Given the description of an element on the screen output the (x, y) to click on. 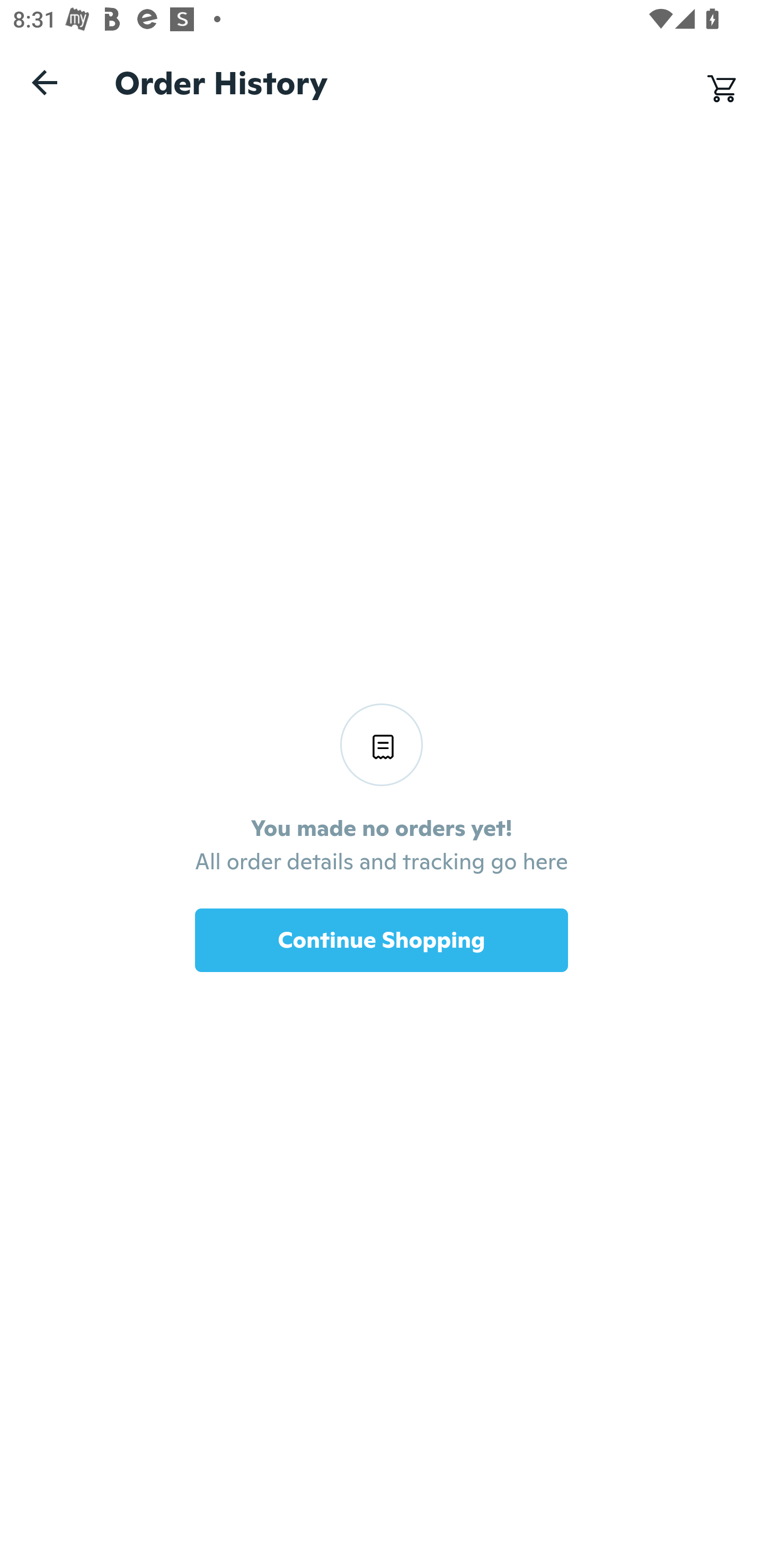
Navigate up (44, 82)
